Given the description of an element on the screen output the (x, y) to click on. 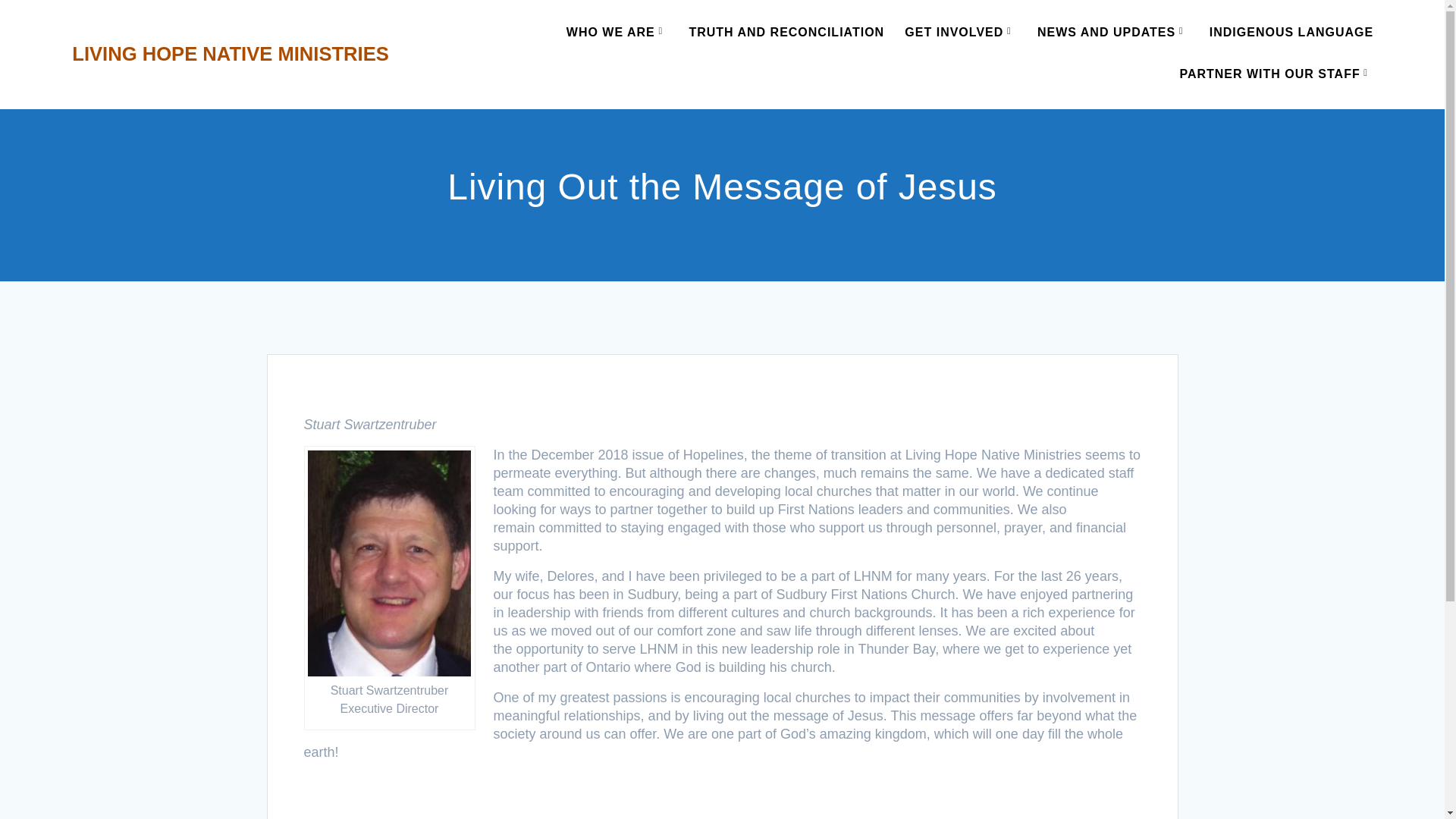
INDIGENOUS LANGUAGE (1291, 33)
NEWS AND UPDATES (1112, 33)
LIVING HOPE NATIVE MINISTRIES (229, 54)
PARTNER WITH OUR STAFF (1276, 75)
WHO WE ARE (617, 33)
GET INVOLVED (960, 33)
TRUTH AND RECONCILIATION (785, 33)
